Given the description of an element on the screen output the (x, y) to click on. 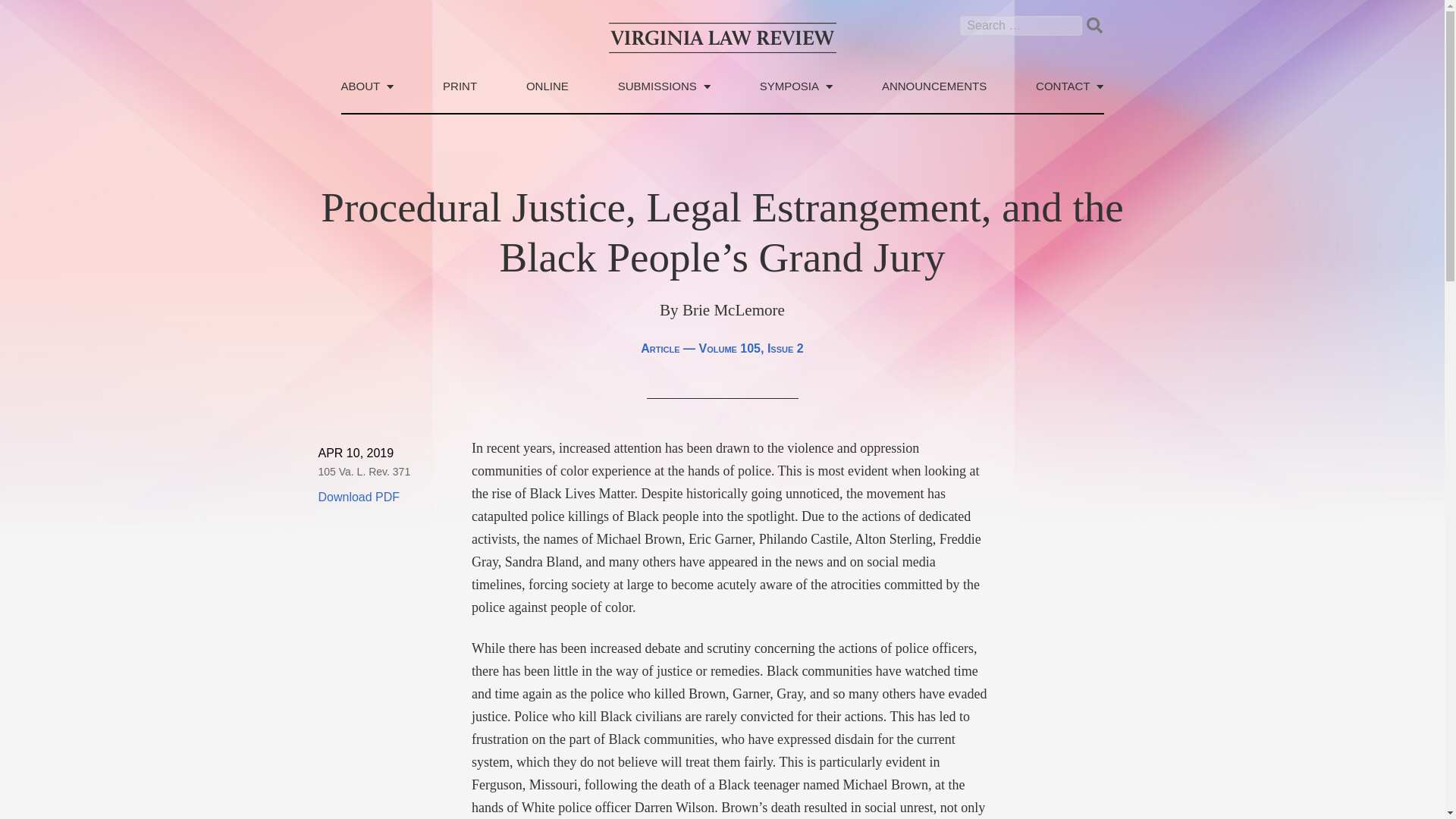
PRINT (459, 96)
Search (1094, 24)
CONTACT (1069, 96)
SYMPOSIA (796, 96)
ABOUT (367, 96)
Search (1094, 24)
ANNOUNCEMENTS (934, 96)
Search (1094, 24)
Download PDF (359, 496)
ONLINE (547, 96)
Volume 105 (729, 348)
SUBMISSIONS (663, 96)
